Given the description of an element on the screen output the (x, y) to click on. 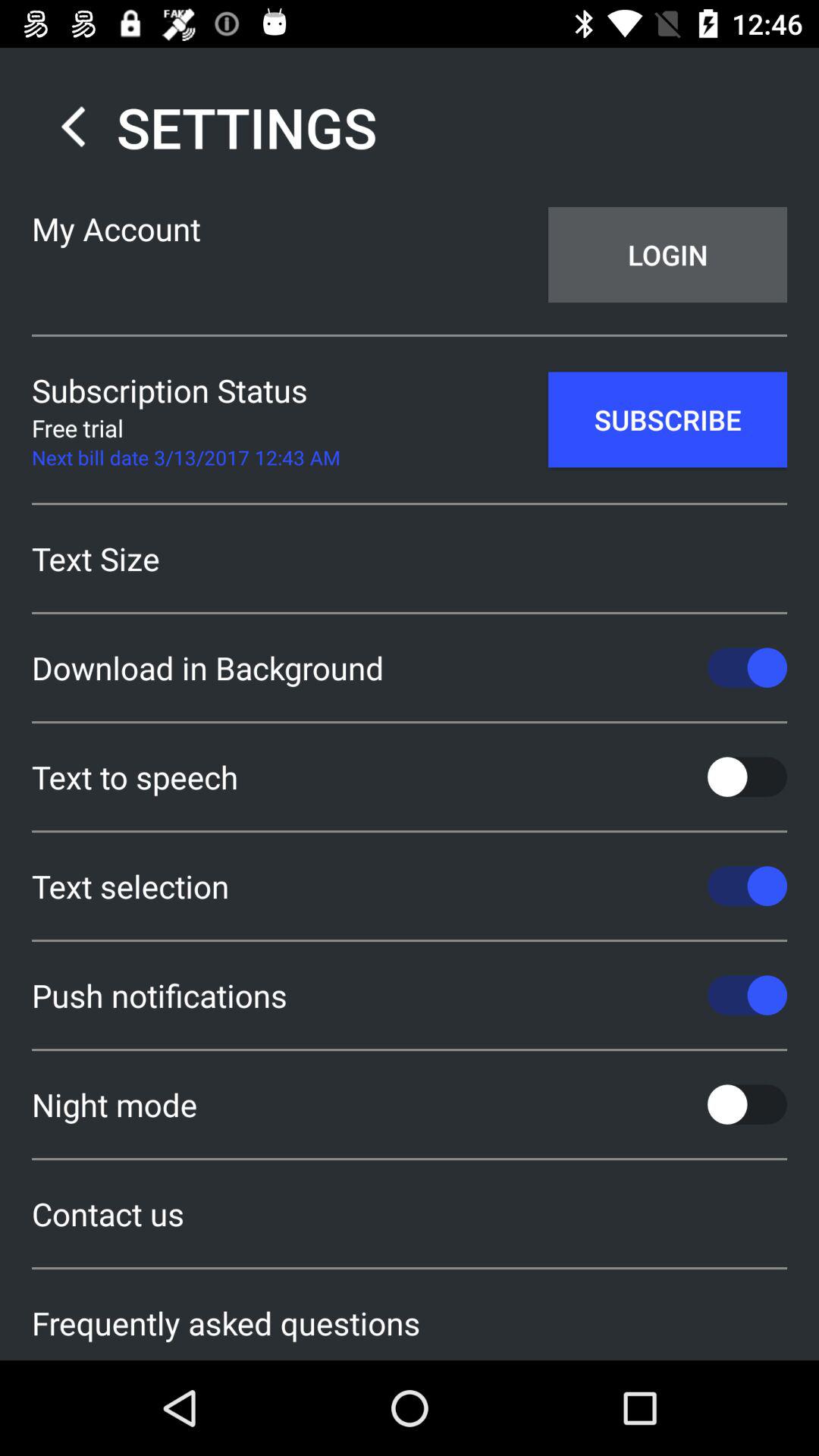
turn off the item to the right of my account app (667, 254)
